Given the description of an element on the screen output the (x, y) to click on. 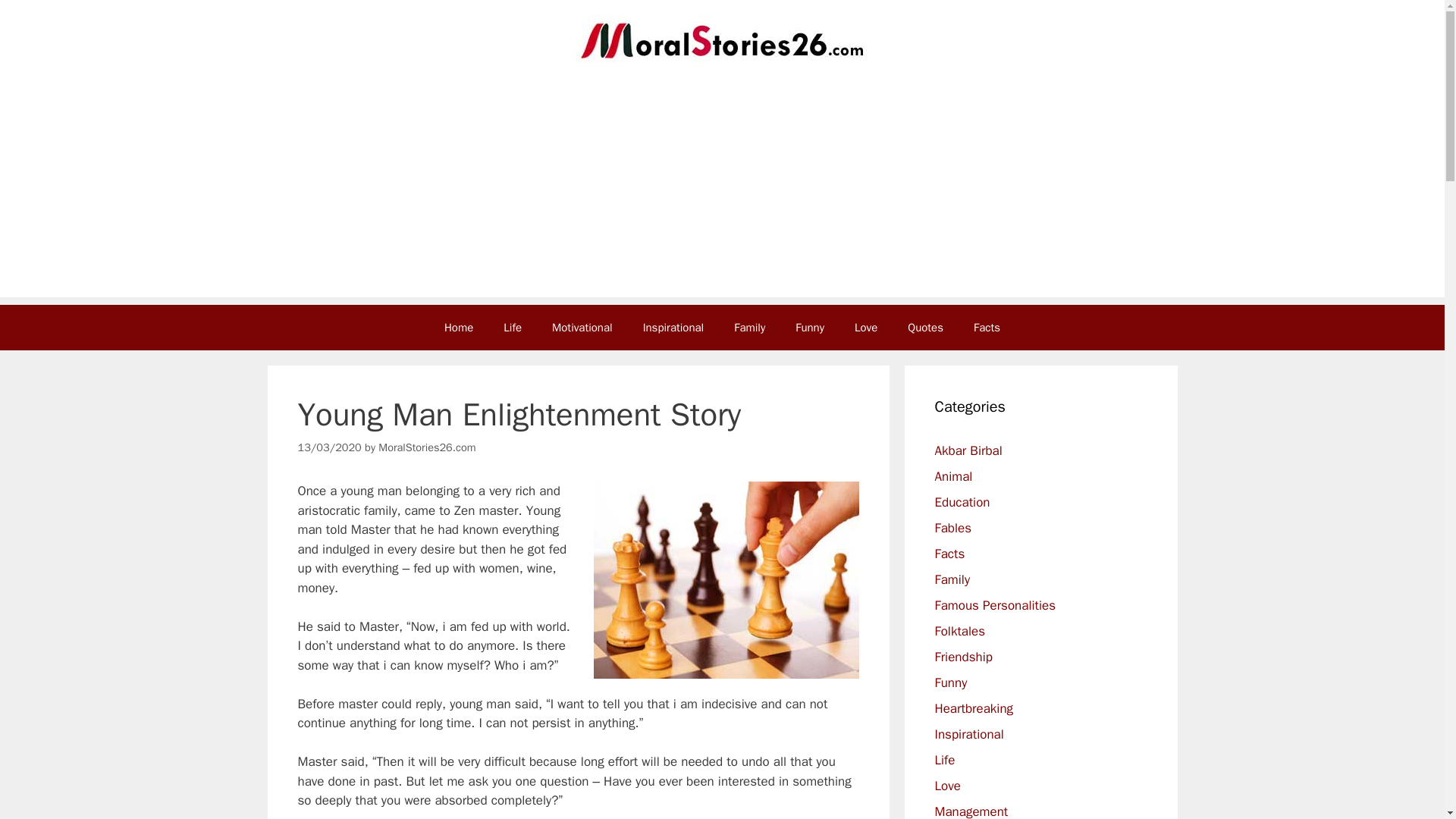
Famous Personalities (994, 605)
Motivational (582, 327)
MoralStories26.com (427, 447)
View all posts by MoralStories26.com (427, 447)
Life (944, 760)
Family (749, 327)
Facts (948, 553)
Animal (953, 476)
Love (946, 785)
